Given the description of an element on the screen output the (x, y) to click on. 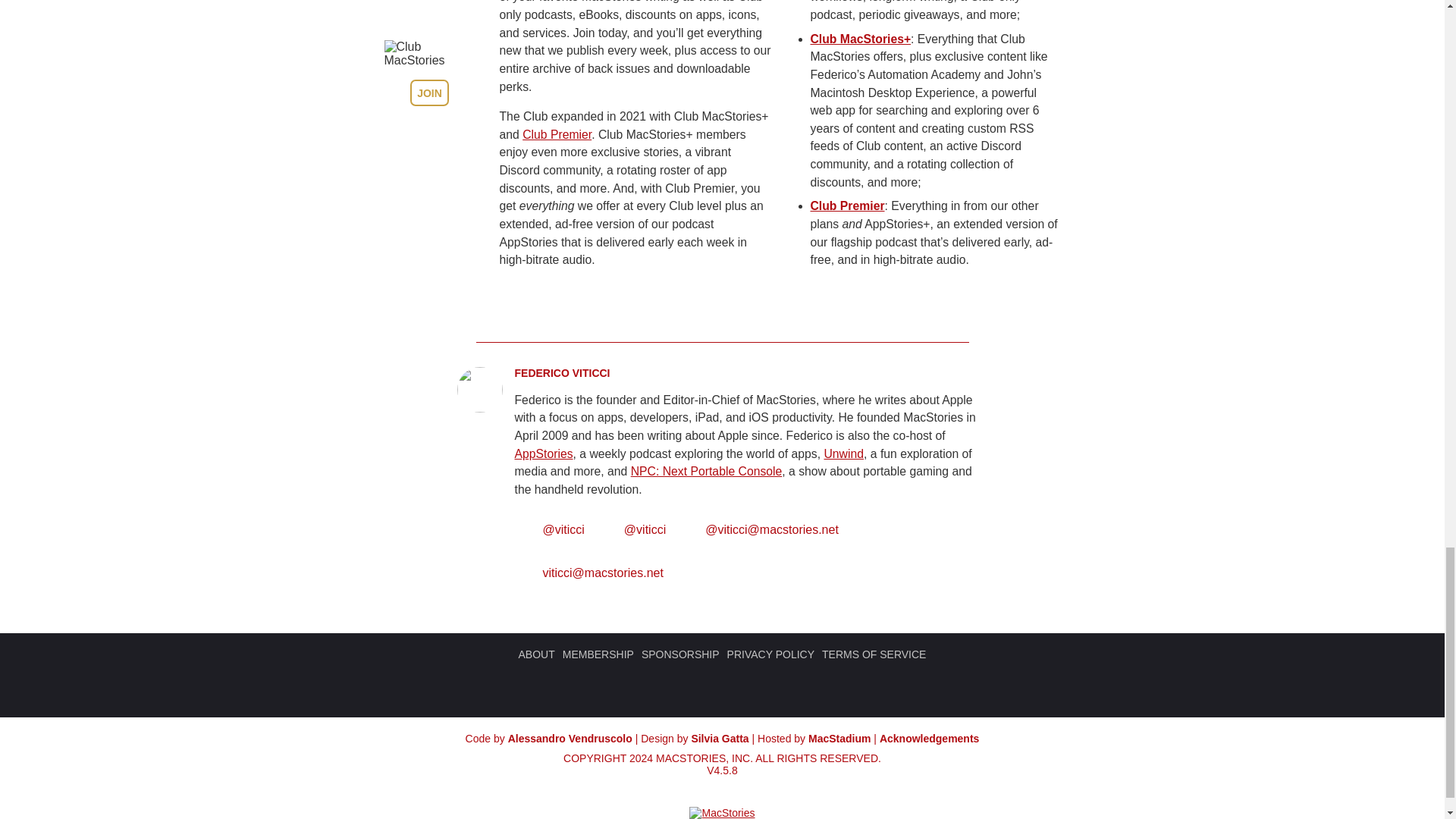
JOIN (429, 92)
Club Premier (846, 205)
Club Premier (556, 133)
Posts by Federico Viticci (561, 372)
